Given the description of an element on the screen output the (x, y) to click on. 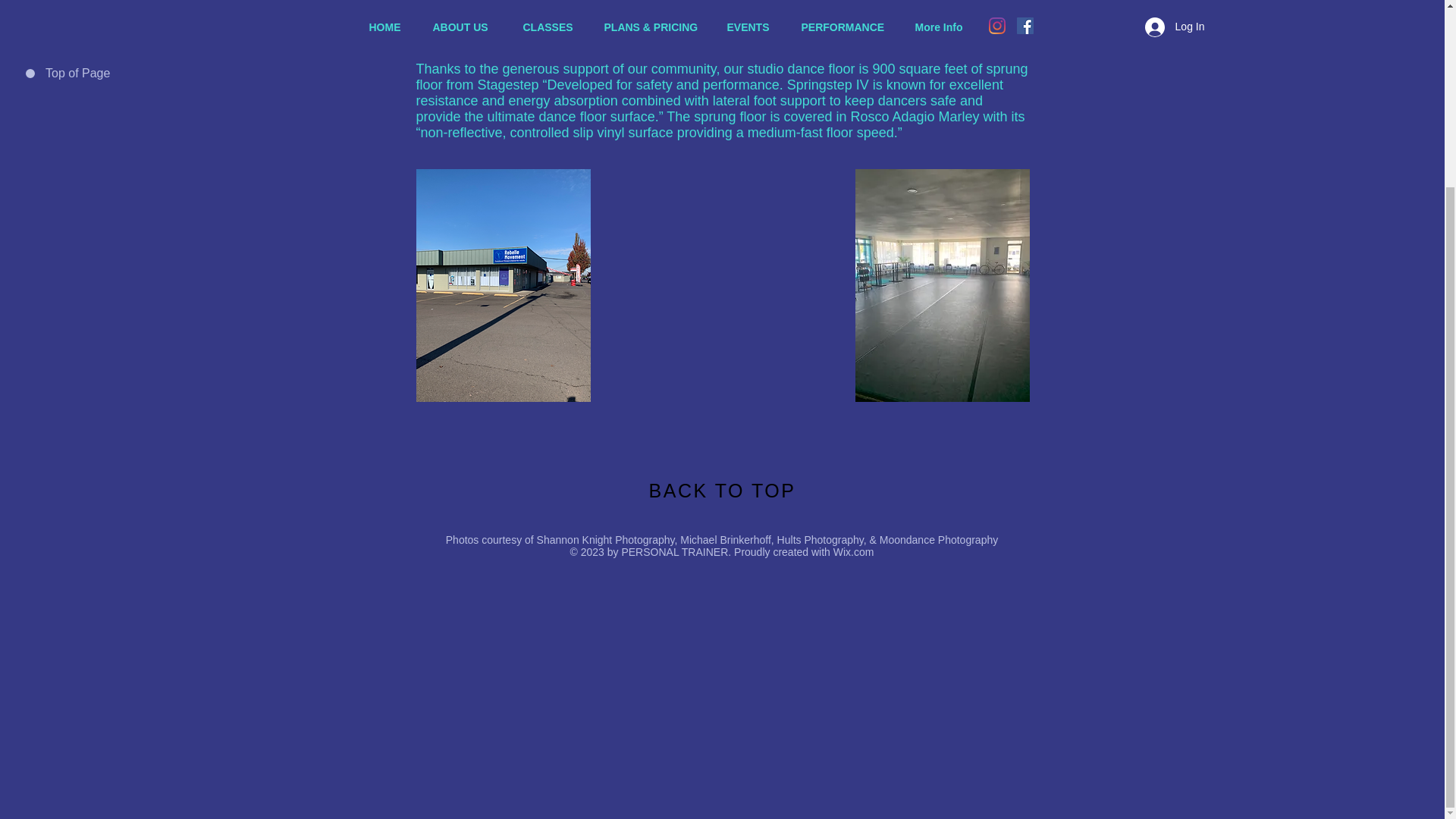
BACK TO TOP (722, 490)
Wix.com (853, 551)
